Given the description of an element on the screen output the (x, y) to click on. 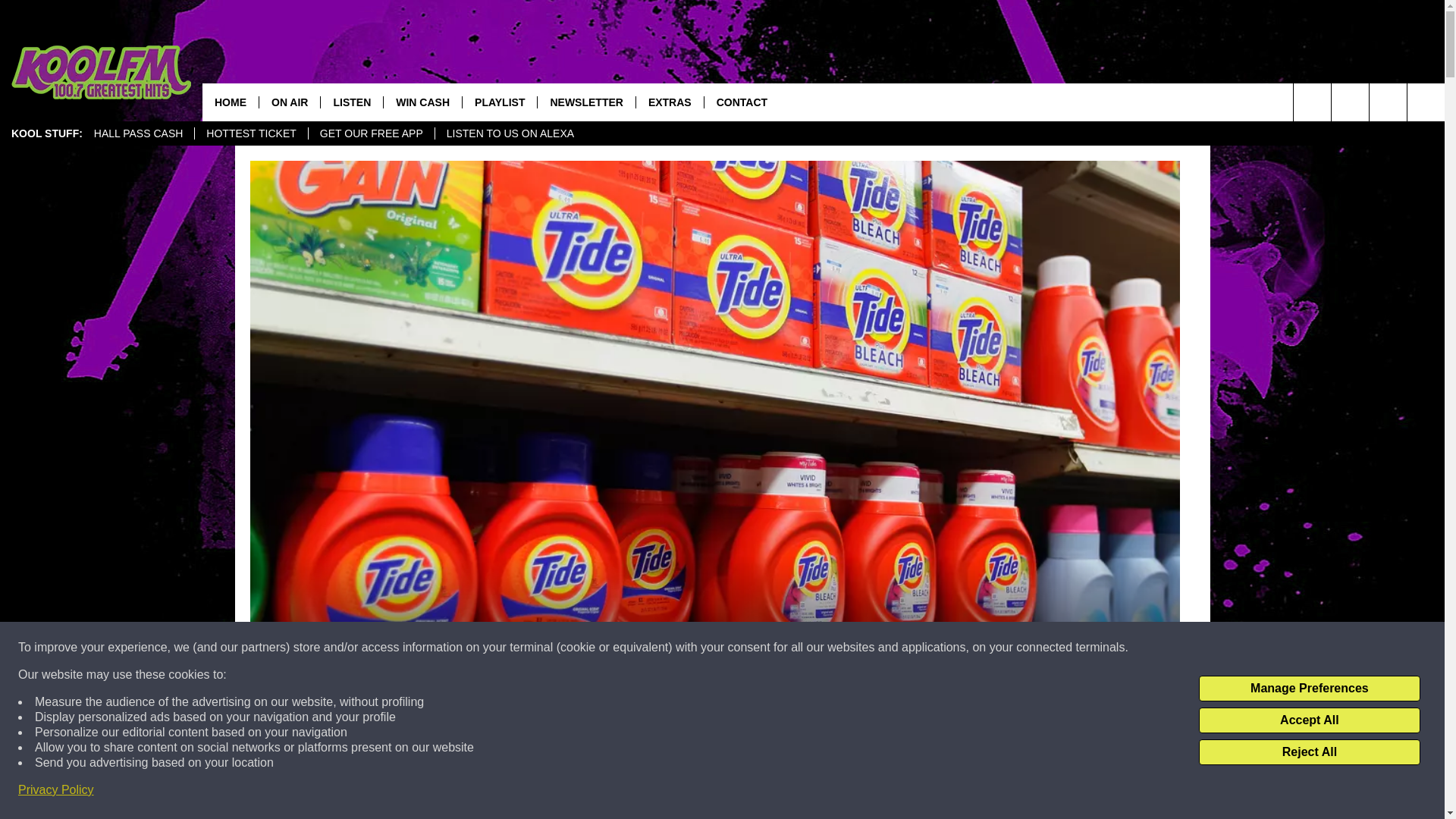
ON AIR (289, 102)
NEWSLETTER (585, 102)
HOTTEST TICKET (250, 133)
Share on Facebook (517, 791)
PLAYLIST (499, 102)
Accept All (1309, 720)
HALL PASS CASH (138, 133)
LISTEN TO US ON ALEXA (509, 133)
Manage Preferences (1309, 688)
Privacy Policy (55, 789)
CONTACT (740, 102)
GET OUR FREE APP (370, 133)
WIN CASH (421, 102)
HOME (230, 102)
Share on Twitter (912, 791)
